Given the description of an element on the screen output the (x, y) to click on. 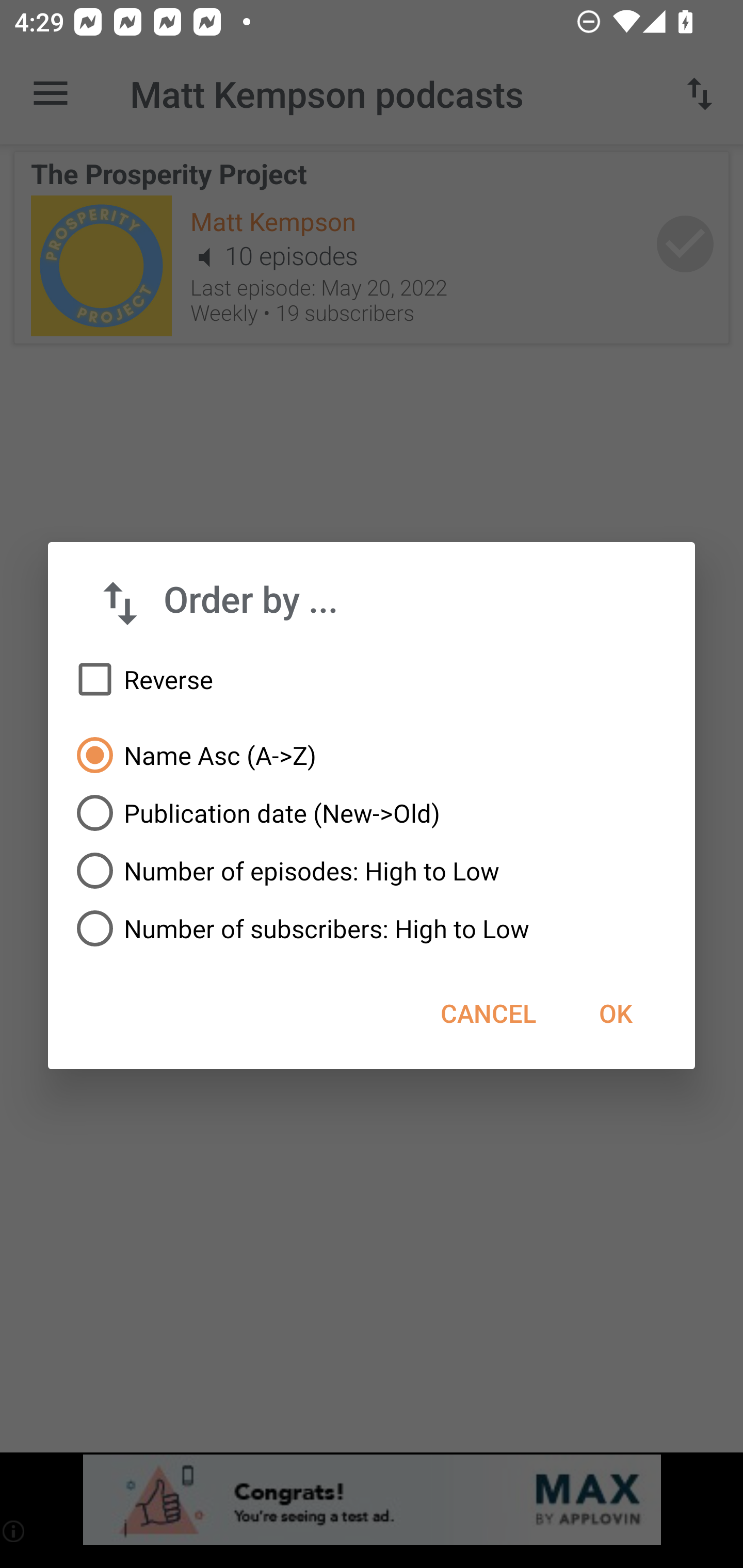
Reverse (371, 679)
Name Asc (A->Z) (371, 754)
Publication date (New->Old) (371, 813)
Number of episodes: High to Low (371, 871)
Number of subscribers: High to Low (371, 929)
CANCEL (488, 1012)
OK (615, 1012)
